Given the description of an element on the screen output the (x, y) to click on. 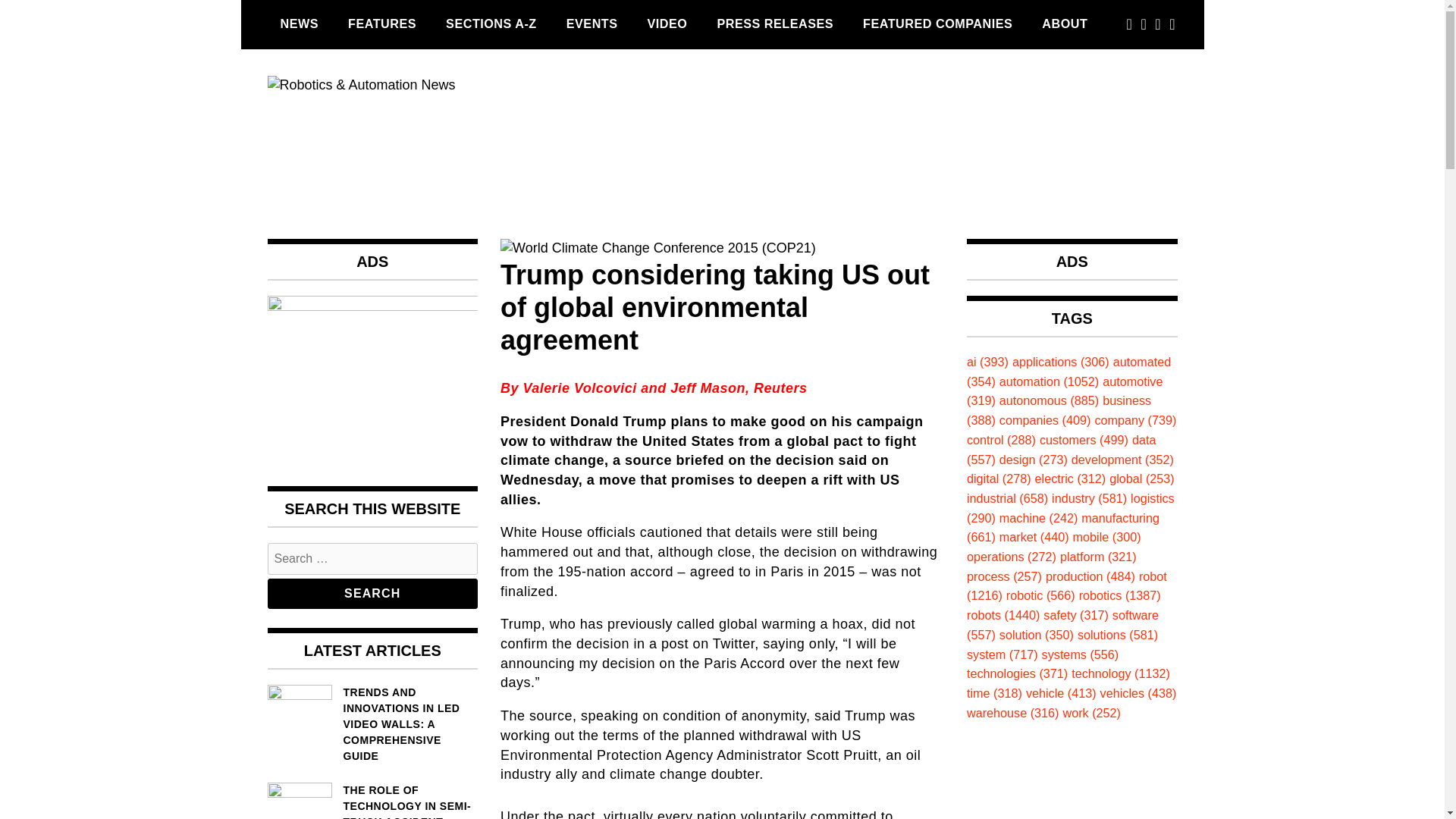
Search (371, 593)
NEWS (298, 23)
SECTIONS A-Z (490, 23)
Search (371, 593)
FEATURES (382, 23)
